Given the description of an element on the screen output the (x, y) to click on. 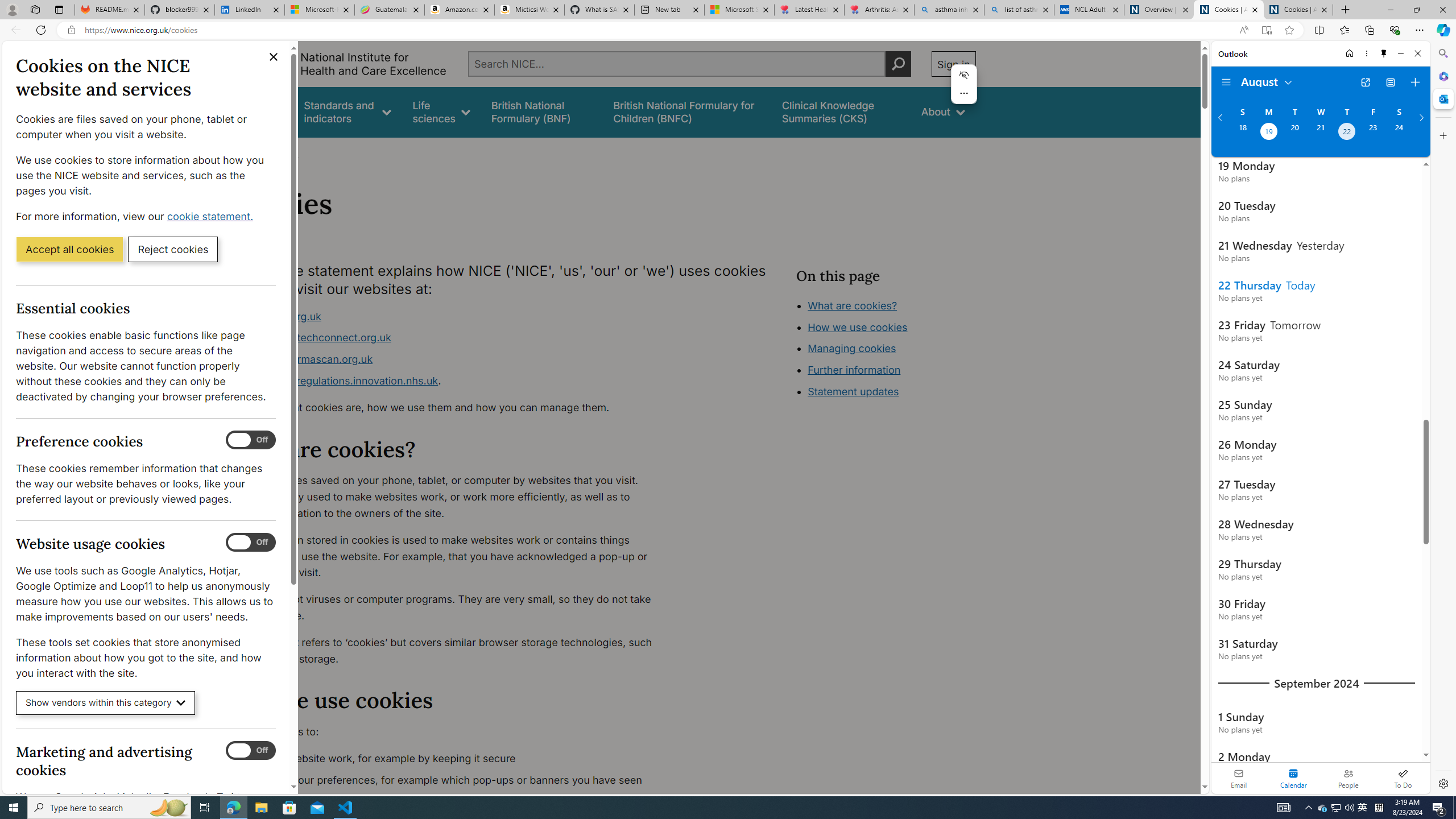
Managing cookies (852, 348)
www.nice.org.uk (452, 316)
